Given the description of an element on the screen output the (x, y) to click on. 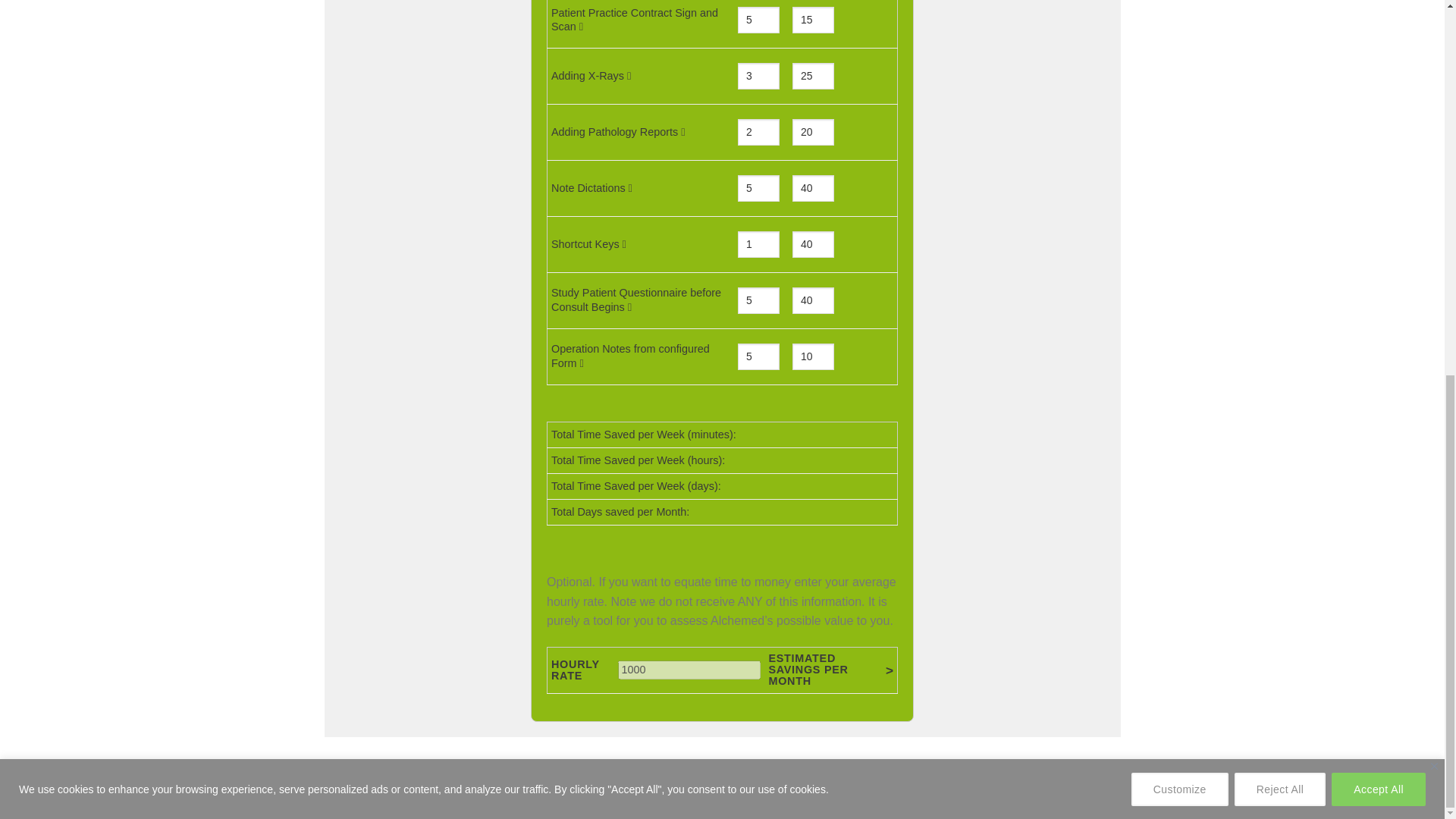
5 (757, 188)
25 (813, 76)
2 (757, 131)
1000 (688, 669)
5 (757, 19)
Customize (1179, 98)
15 (813, 19)
3 (757, 76)
20 (813, 131)
